Given the description of an element on the screen output the (x, y) to click on. 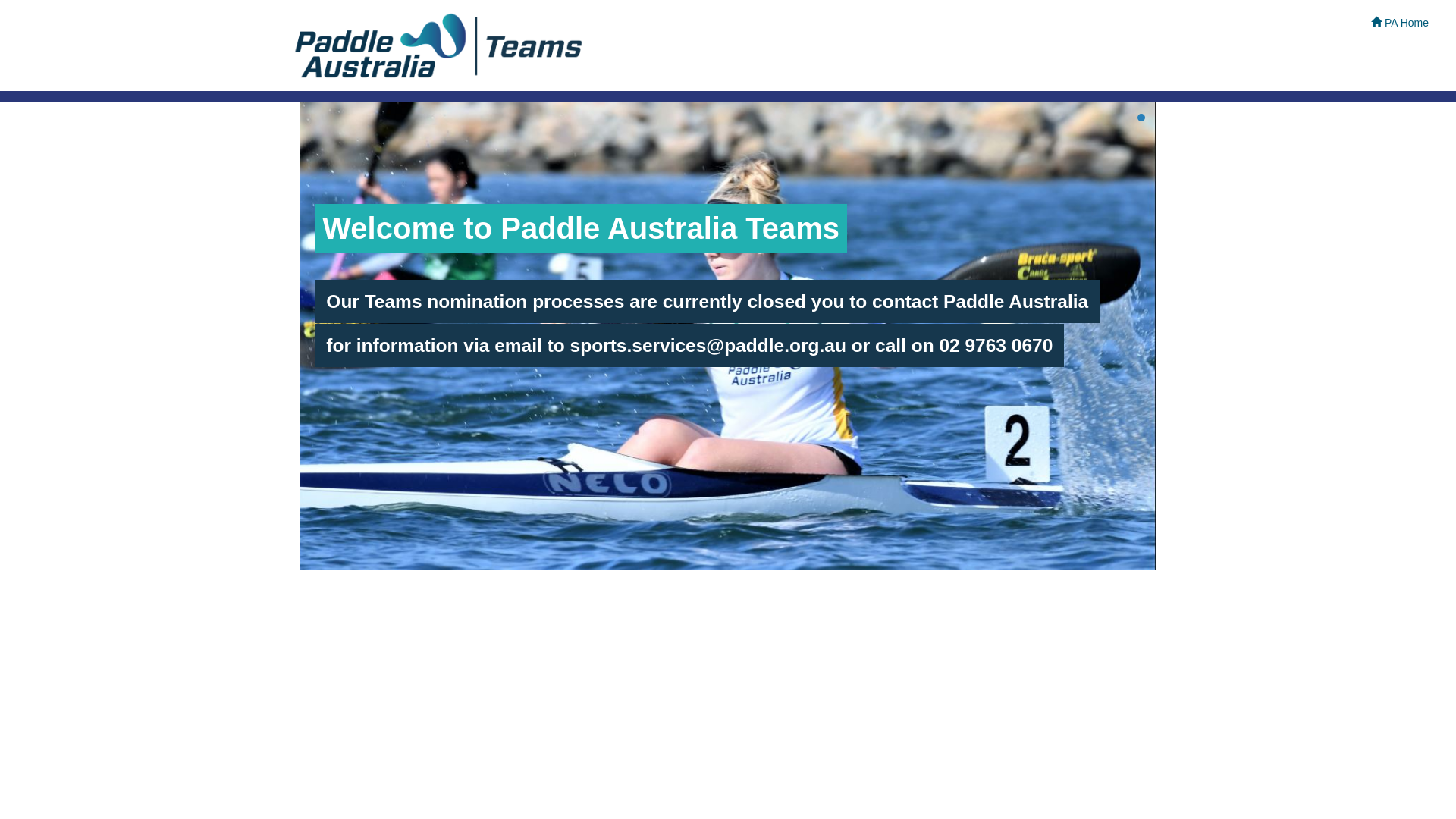
PA Home Element type: text (1399, 22)
